Given the description of an element on the screen output the (x, y) to click on. 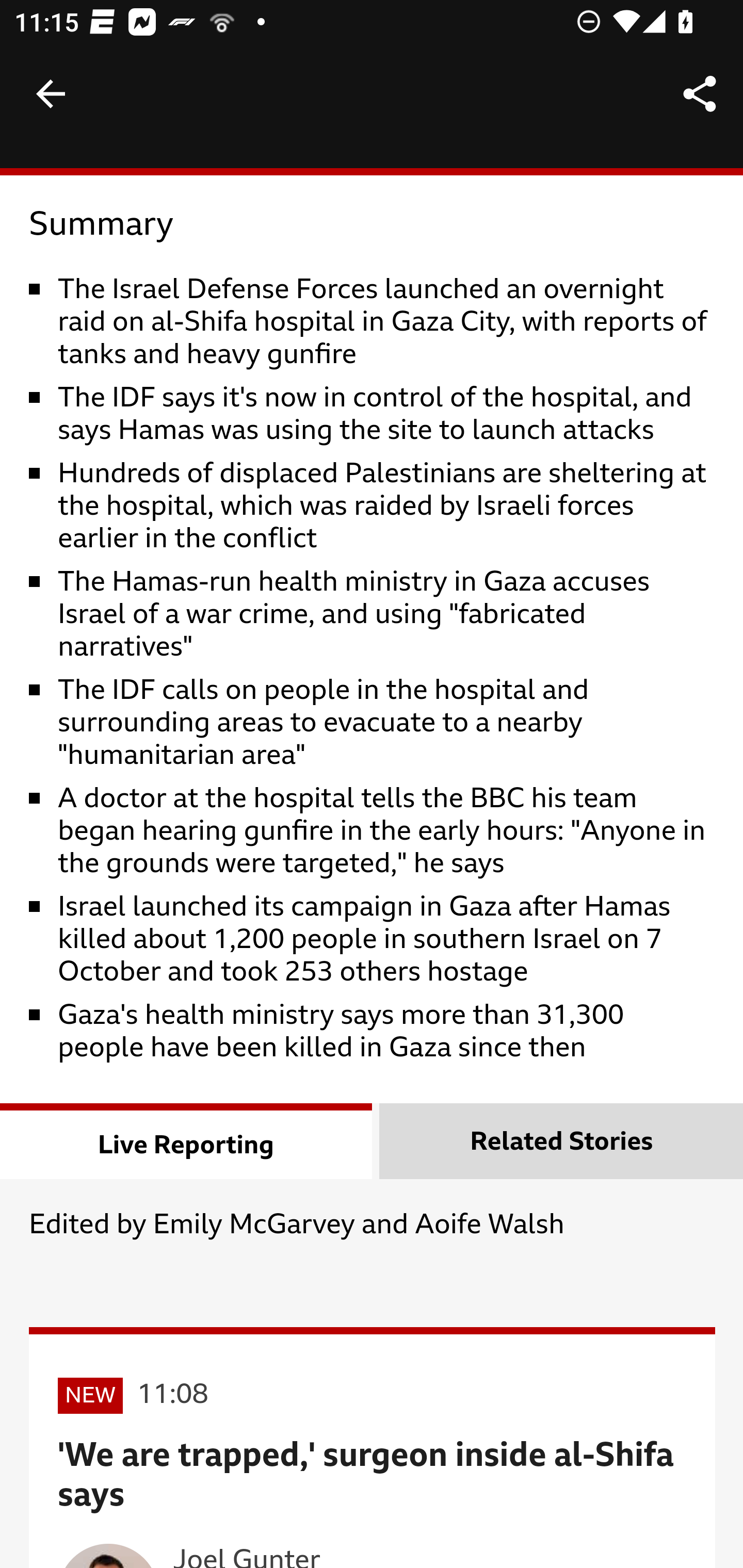
Back (50, 93)
Share (699, 93)
Live Reporting (186, 1143)
Related Stories (560, 1143)
